Given the description of an element on the screen output the (x, y) to click on. 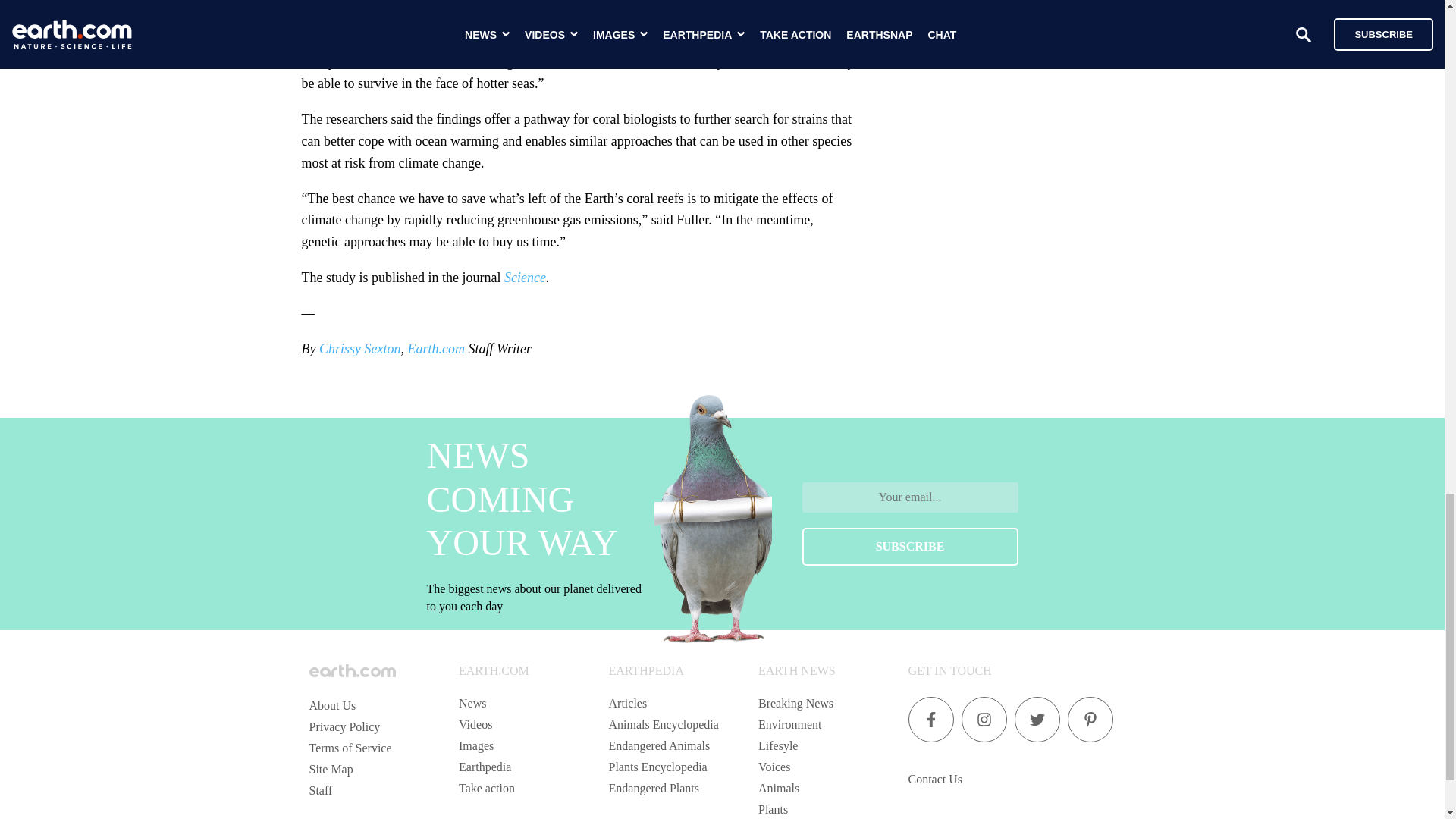
SUBSCRIBE (909, 546)
Science (524, 277)
Chrissy Sexton (359, 348)
Earth.com (435, 348)
